Given the description of an element on the screen output the (x, y) to click on. 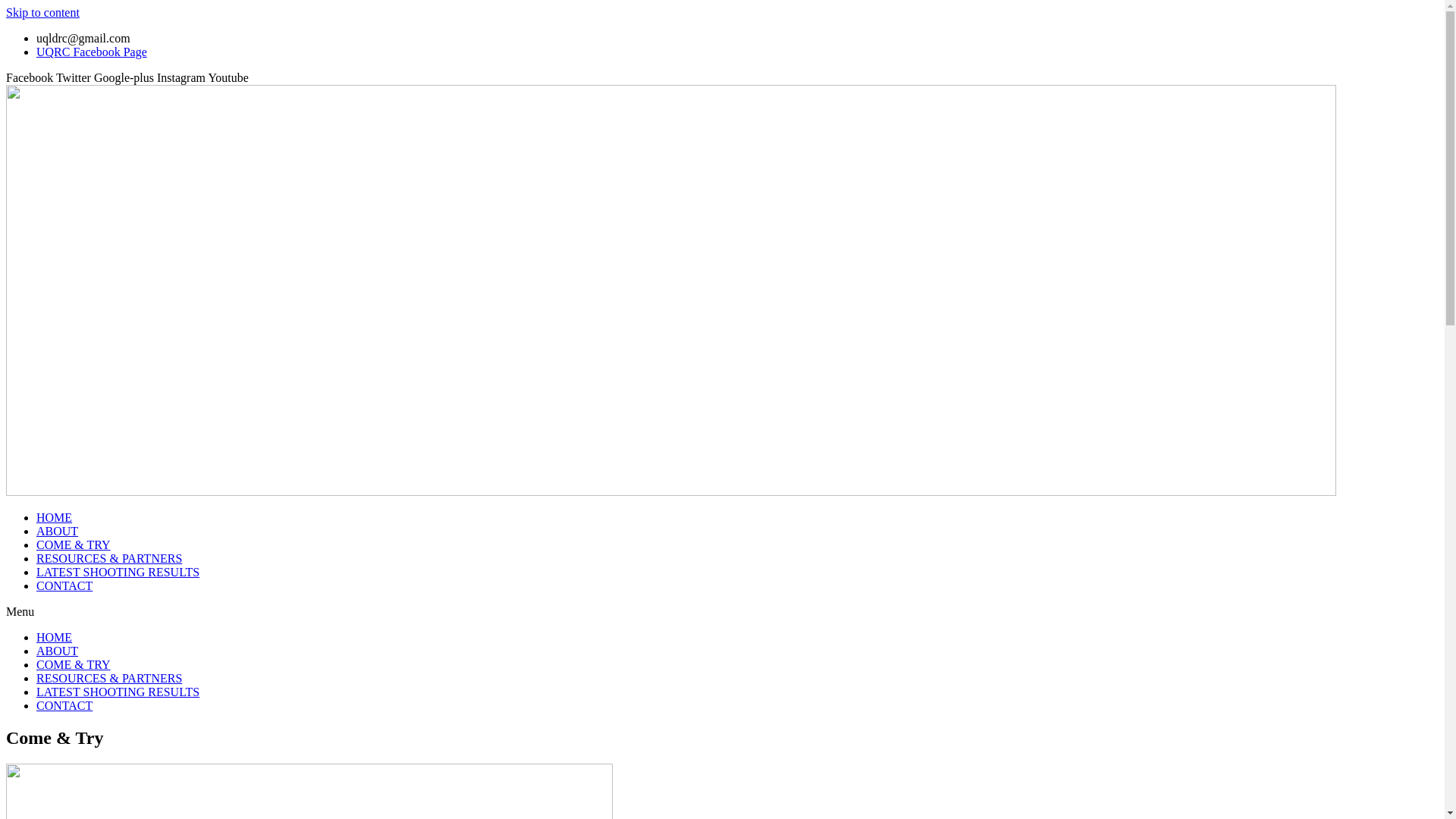
RESOURCES & PARTNERS Element type: text (109, 677)
COME & TRY Element type: text (73, 664)
COME & TRY Element type: text (73, 544)
Skip to content Element type: text (42, 12)
Facebook Element type: text (31, 77)
CONTACT Element type: text (64, 705)
Google-plus Element type: text (125, 77)
ABOUT Element type: text (57, 530)
Twitter Element type: text (75, 77)
Instagram Element type: text (181, 77)
ABOUT Element type: text (57, 650)
Youtube Element type: text (227, 77)
LATEST SHOOTING RESULTS Element type: text (117, 571)
HOME Element type: text (54, 636)
RESOURCES & PARTNERS Element type: text (109, 558)
HOME Element type: text (54, 517)
LATEST SHOOTING RESULTS Element type: text (117, 691)
UQRC Facebook Page Element type: text (91, 51)
CONTACT Element type: text (64, 585)
